Given the description of an element on the screen output the (x, y) to click on. 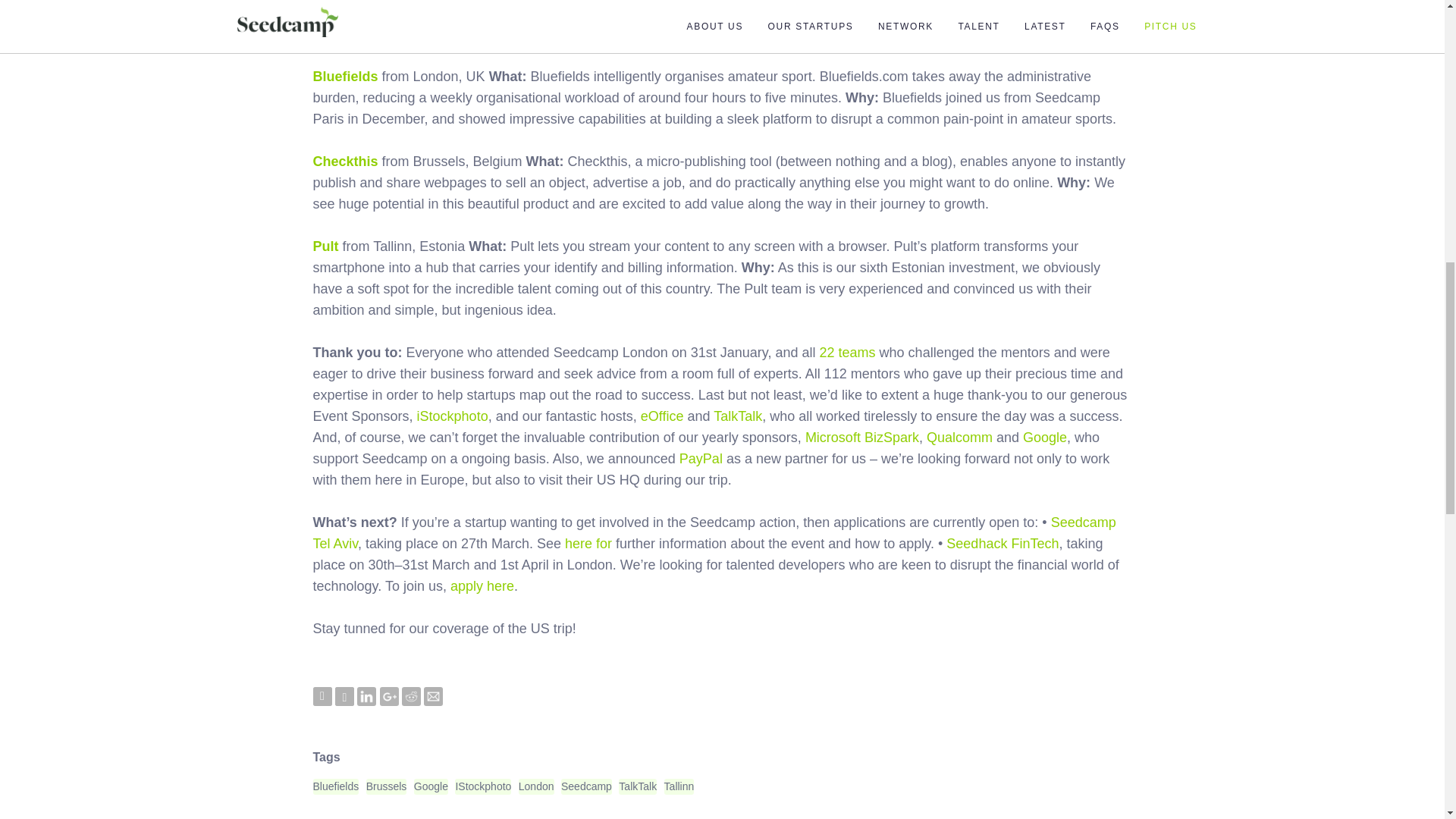
Bluefields (335, 786)
LinkedIn (365, 696)
apply here (481, 585)
London (536, 786)
PayPal (700, 458)
Twitter (322, 696)
Seedcamp Tel Aviv (714, 533)
Email (432, 696)
IStockphoto (482, 786)
Microsoft BizSpark (861, 437)
